Given the description of an element on the screen output the (x, y) to click on. 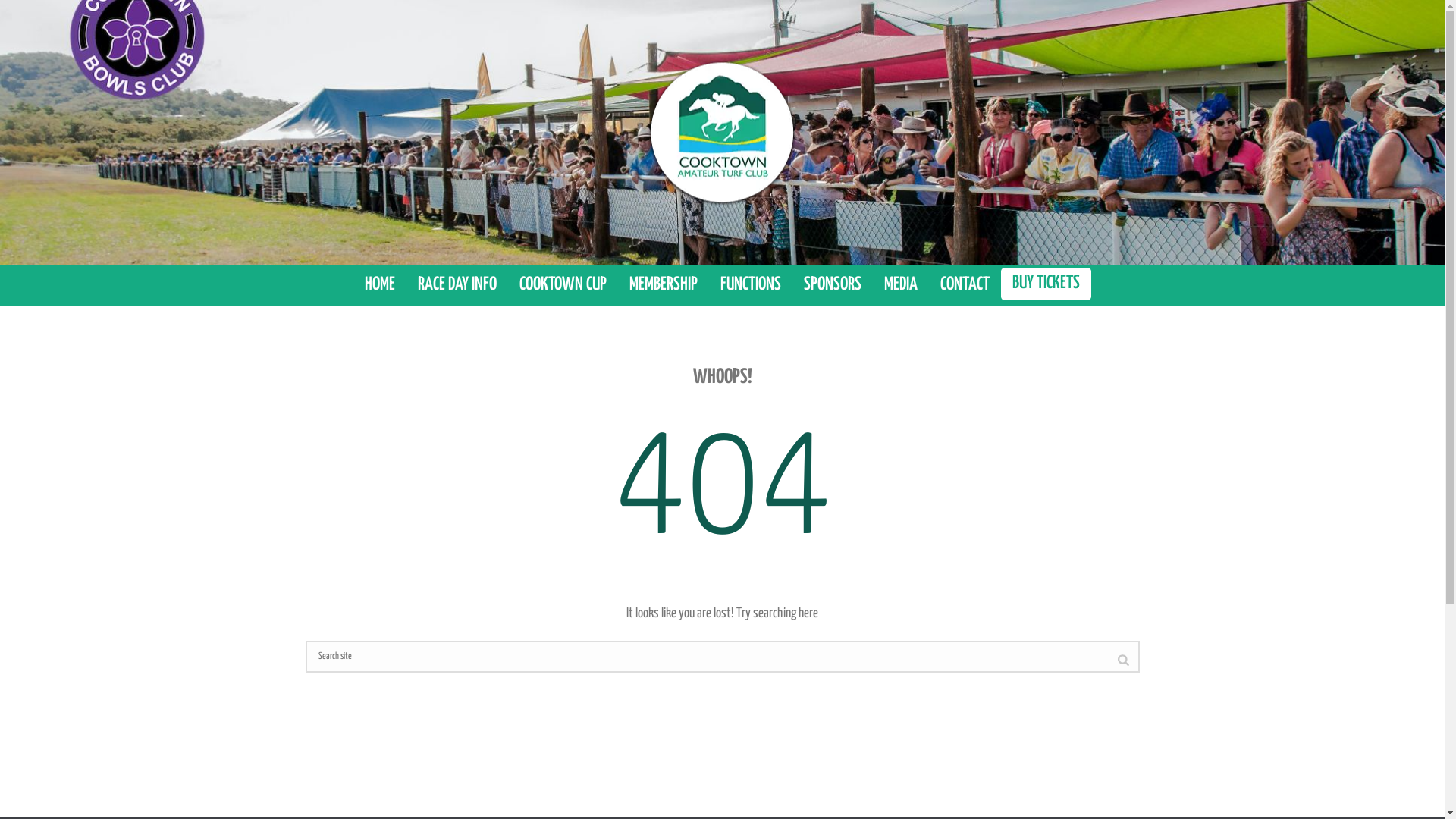
MEDIA Element type: text (900, 285)
Cooktown Amateurs Turf Club Element type: hover (721, 132)
FUNCTIONS Element type: text (750, 285)
BUY TICKETS Element type: text (1046, 283)
SPONSORS Element type: text (832, 285)
HOME Element type: text (379, 285)
COOKTOWN CUP Element type: text (563, 285)
MEMBERSHIP Element type: text (663, 285)
CONTACT Element type: text (964, 285)
RACE DAY INFO Element type: text (457, 285)
Cooktown Races Element type: hover (721, 132)
